Given the description of an element on the screen output the (x, y) to click on. 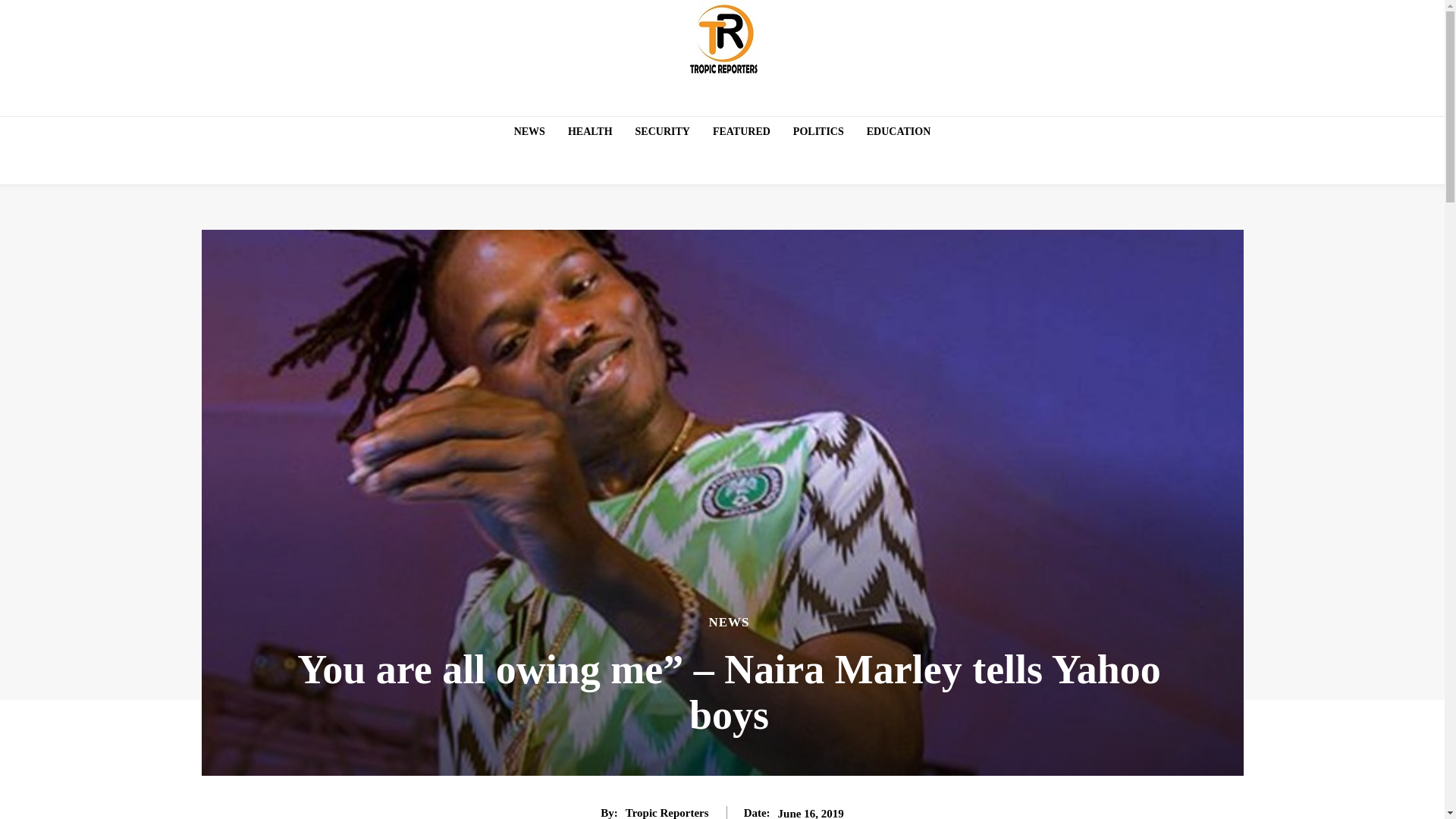
NEWS (529, 132)
Tropic Reporters (667, 812)
EDUCATION (899, 132)
NEWS (728, 621)
SECURITY (662, 132)
HEALTH (590, 132)
POLITICS (818, 132)
FEATURED (740, 132)
